Given the description of an element on the screen output the (x, y) to click on. 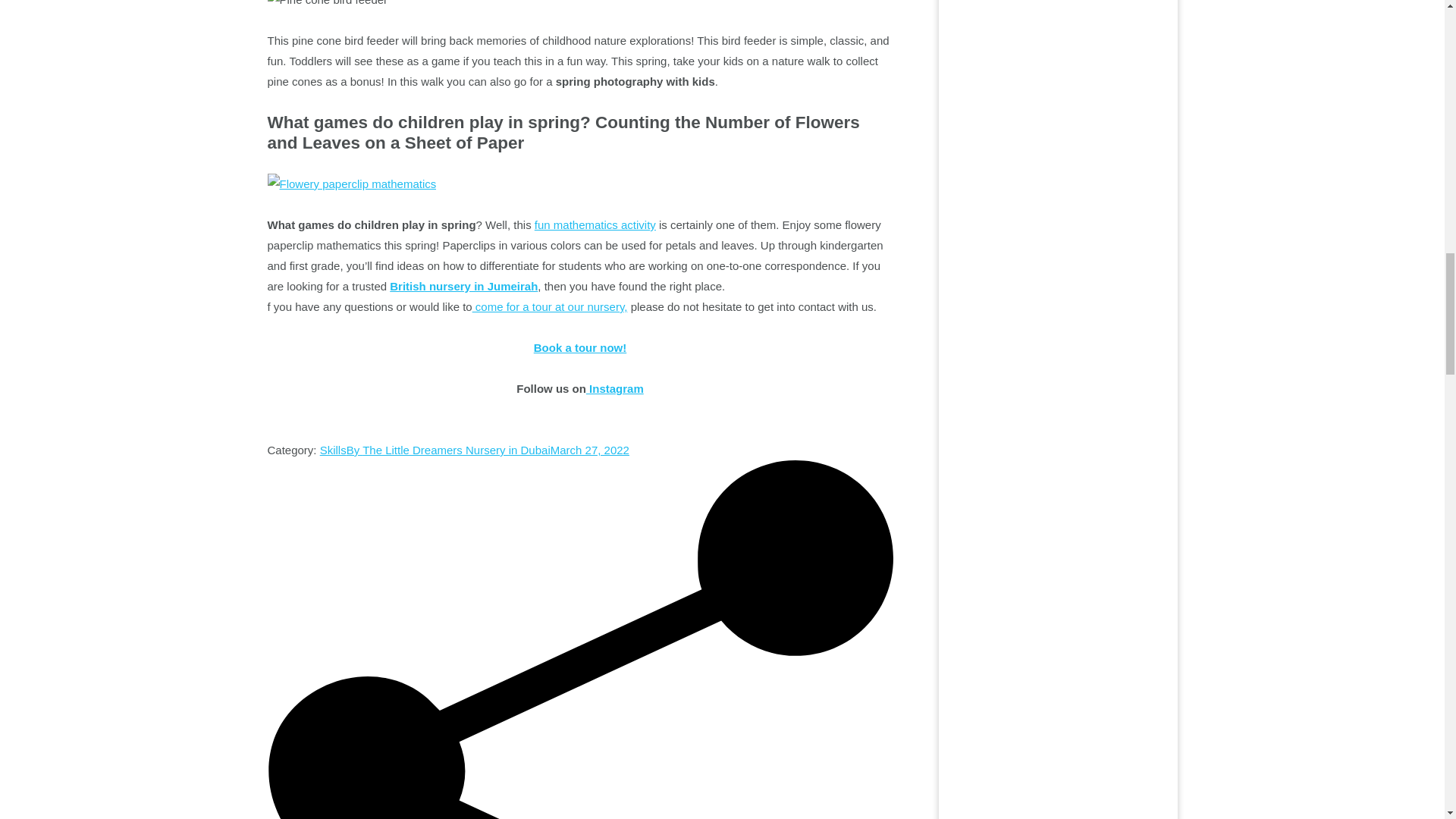
View all posts by The Little Dreamers Nursery in Dubai (448, 449)
1:40 pm (589, 449)
